Given the description of an element on the screen output the (x, y) to click on. 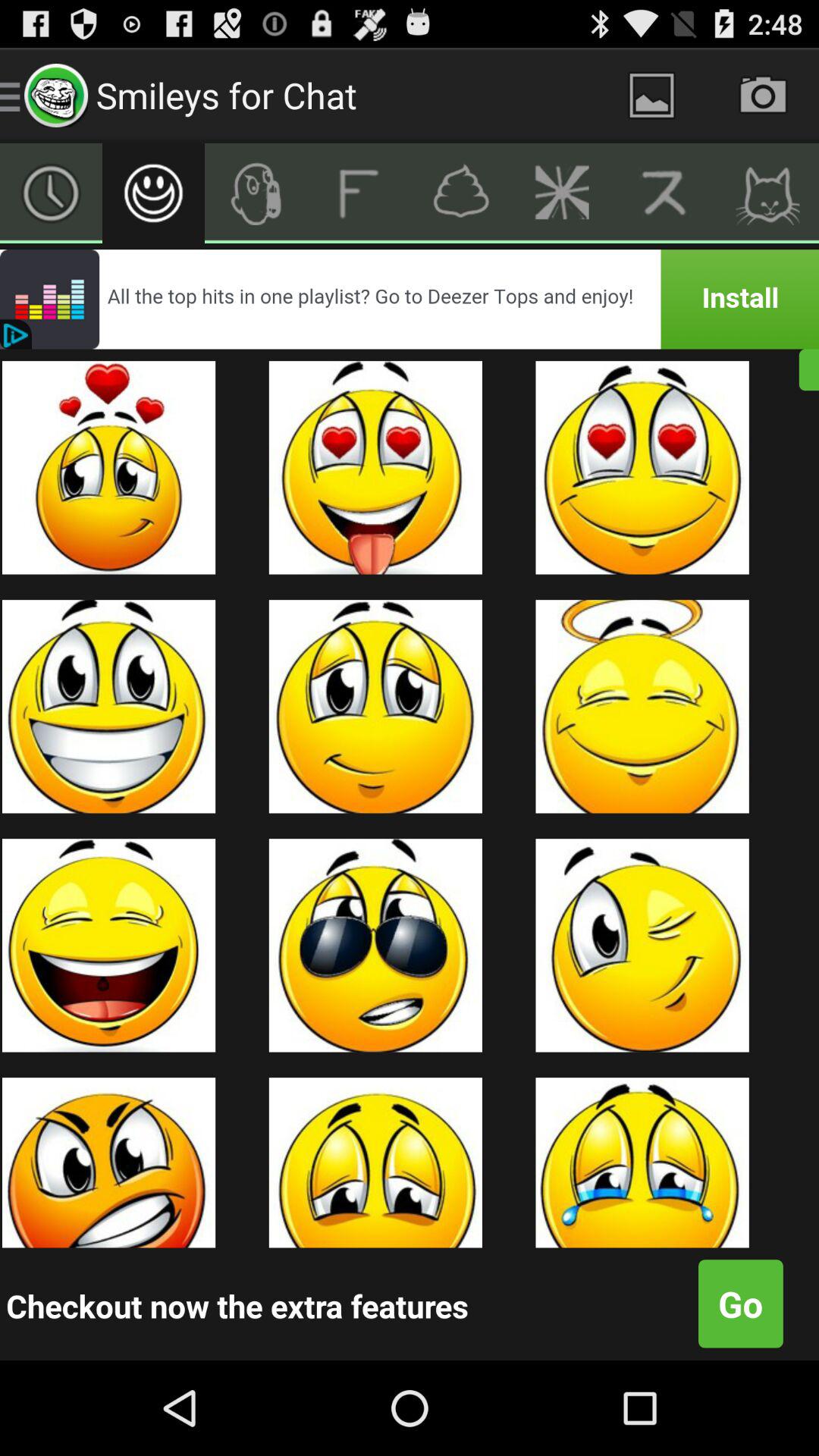
ateno para janela (651, 95)
